Given the description of an element on the screen output the (x, y) to click on. 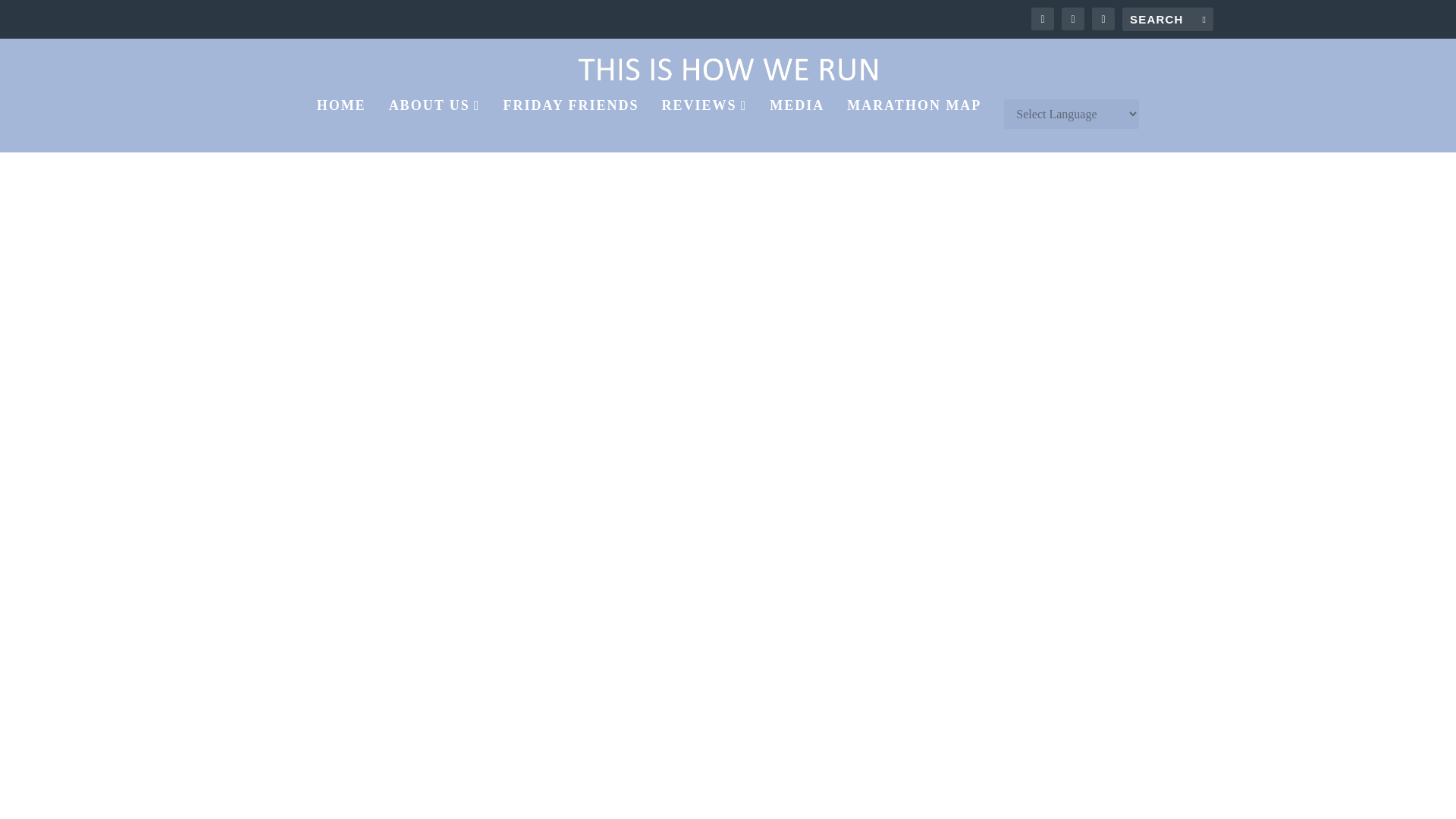
REVIEWS (705, 125)
MEDIA (797, 125)
FRIDAY FRIENDS (570, 125)
HOME (341, 125)
MARATHON MAP (914, 125)
ABOUT US (434, 125)
Search for: (1167, 19)
